Given the description of an element on the screen output the (x, y) to click on. 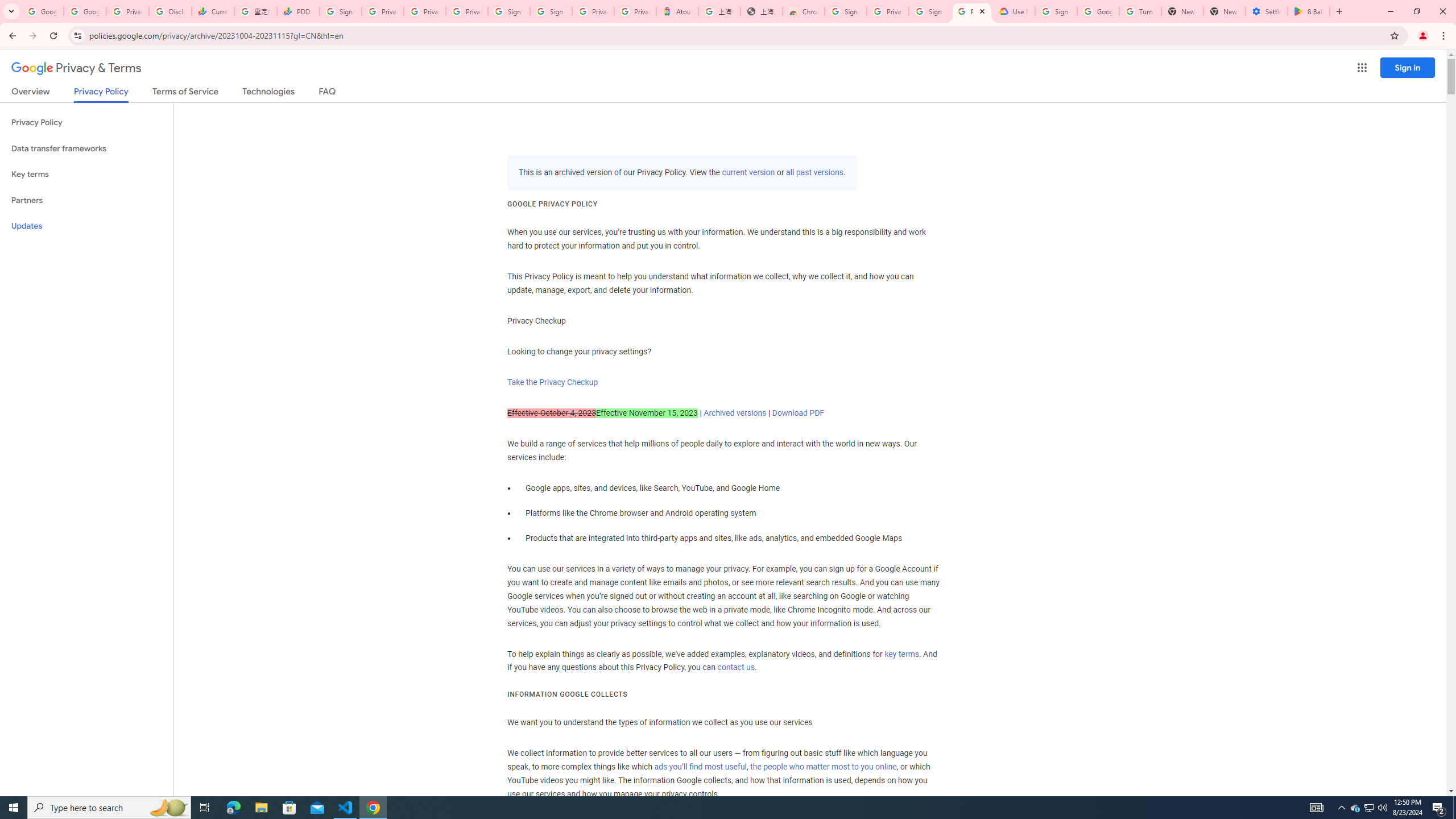
Atour Hotel - Google hotels (676, 11)
Google Account Help (1097, 11)
Take the Privacy Checkup (552, 381)
contact us (735, 667)
